Given the description of an element on the screen output the (x, y) to click on. 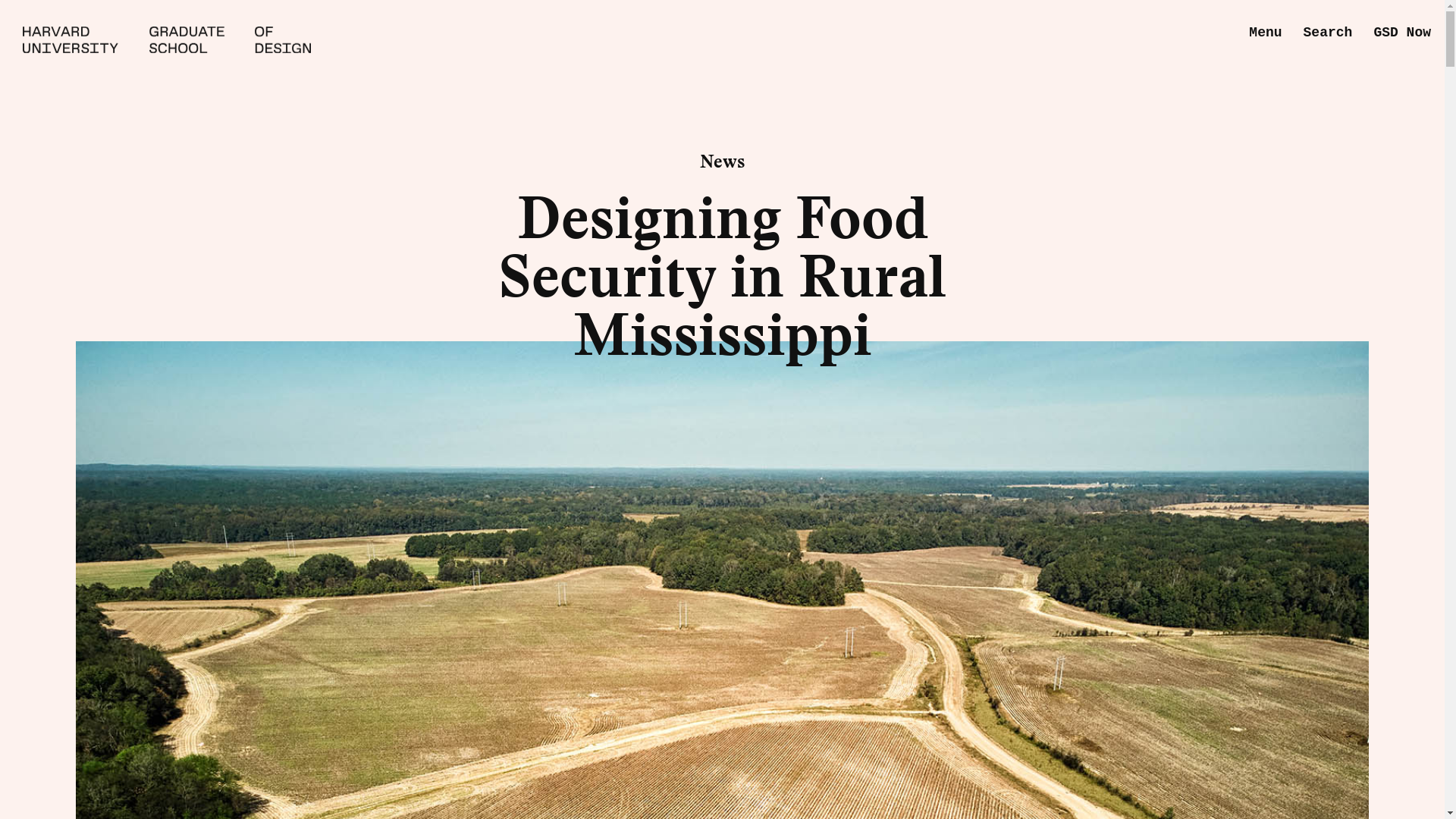
Search (1327, 32)
GSD Now (1402, 32)
Menu (1265, 32)
